Given the description of an element on the screen output the (x, y) to click on. 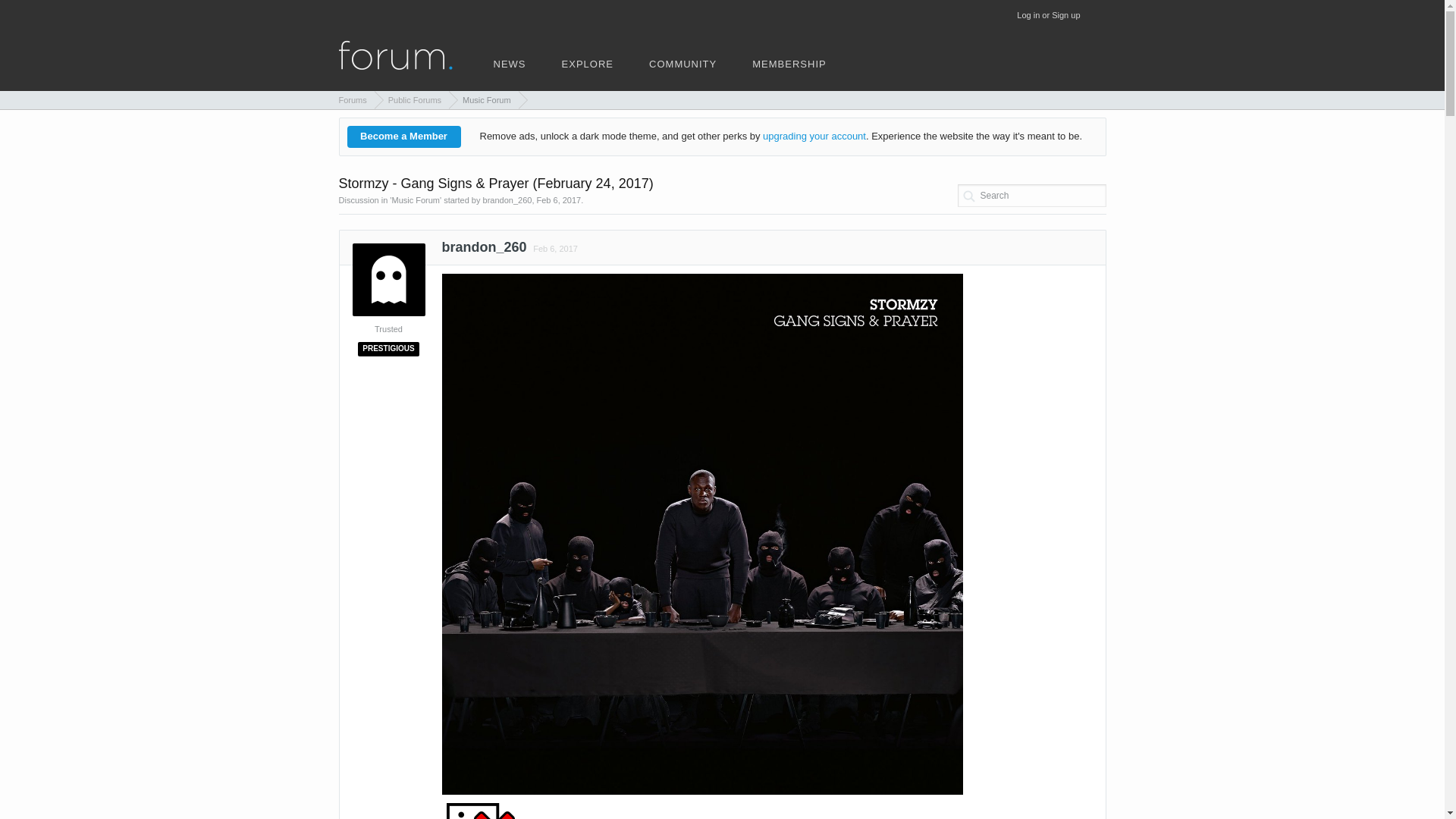
Permalink (553, 248)
Feb 6, 2017 (558, 199)
upgrading your account (814, 135)
Feb 6, 2017 (553, 248)
Enter your search and hit enter (1030, 195)
Feb 6, 2017 at 5:22 PM (555, 248)
Music Forum (483, 99)
Log in or Sign up (1048, 14)
PRESTIGIOUS (388, 347)
Music Forum (415, 199)
